Given the description of an element on the screen output the (x, y) to click on. 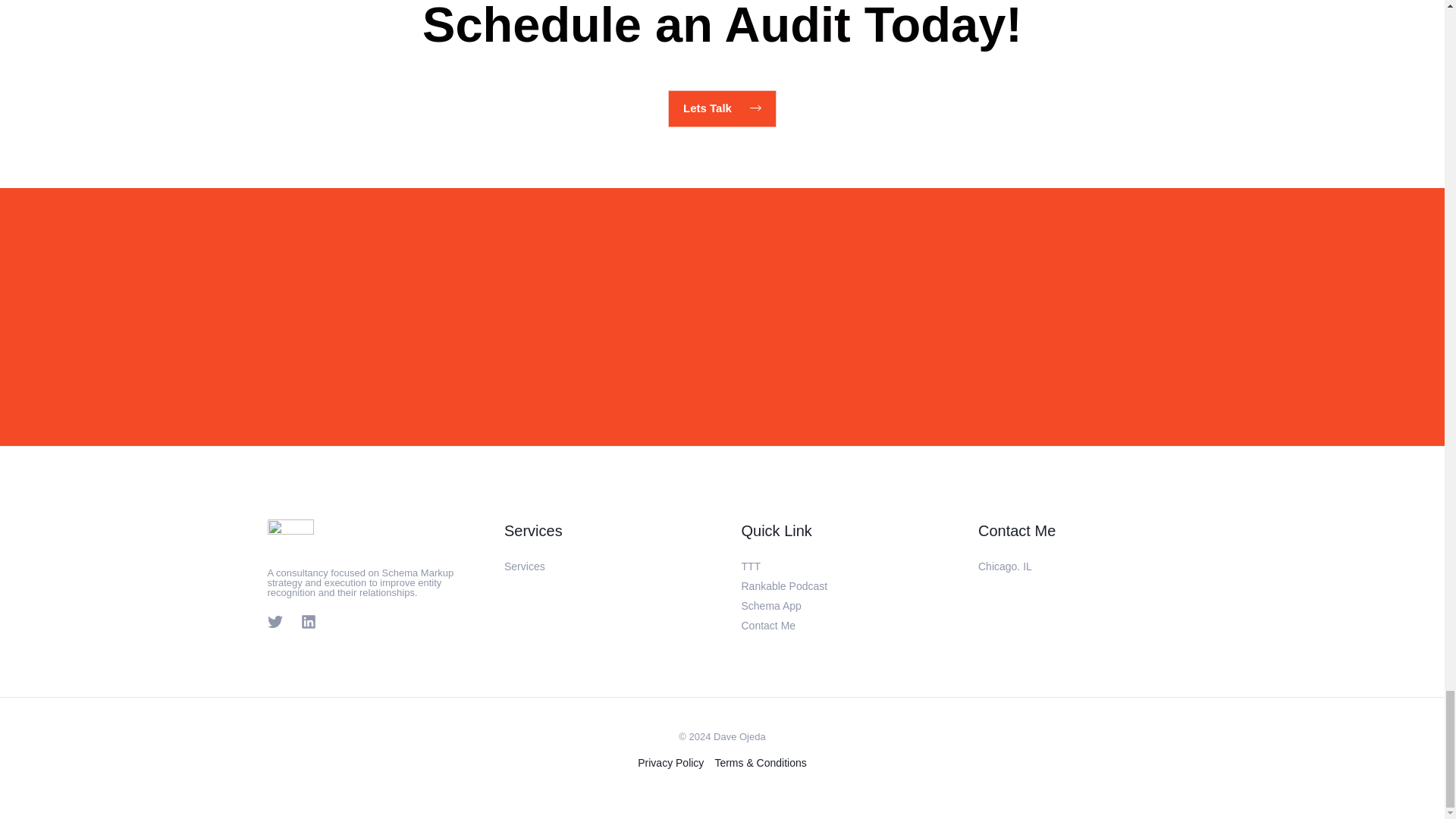
Privacy Policy (673, 763)
Services (523, 566)
Lets Talk (722, 108)
Schema App (771, 605)
Rankable Podcast (784, 585)
Contact Me (768, 625)
TTT (751, 566)
